Given the description of an element on the screen output the (x, y) to click on. 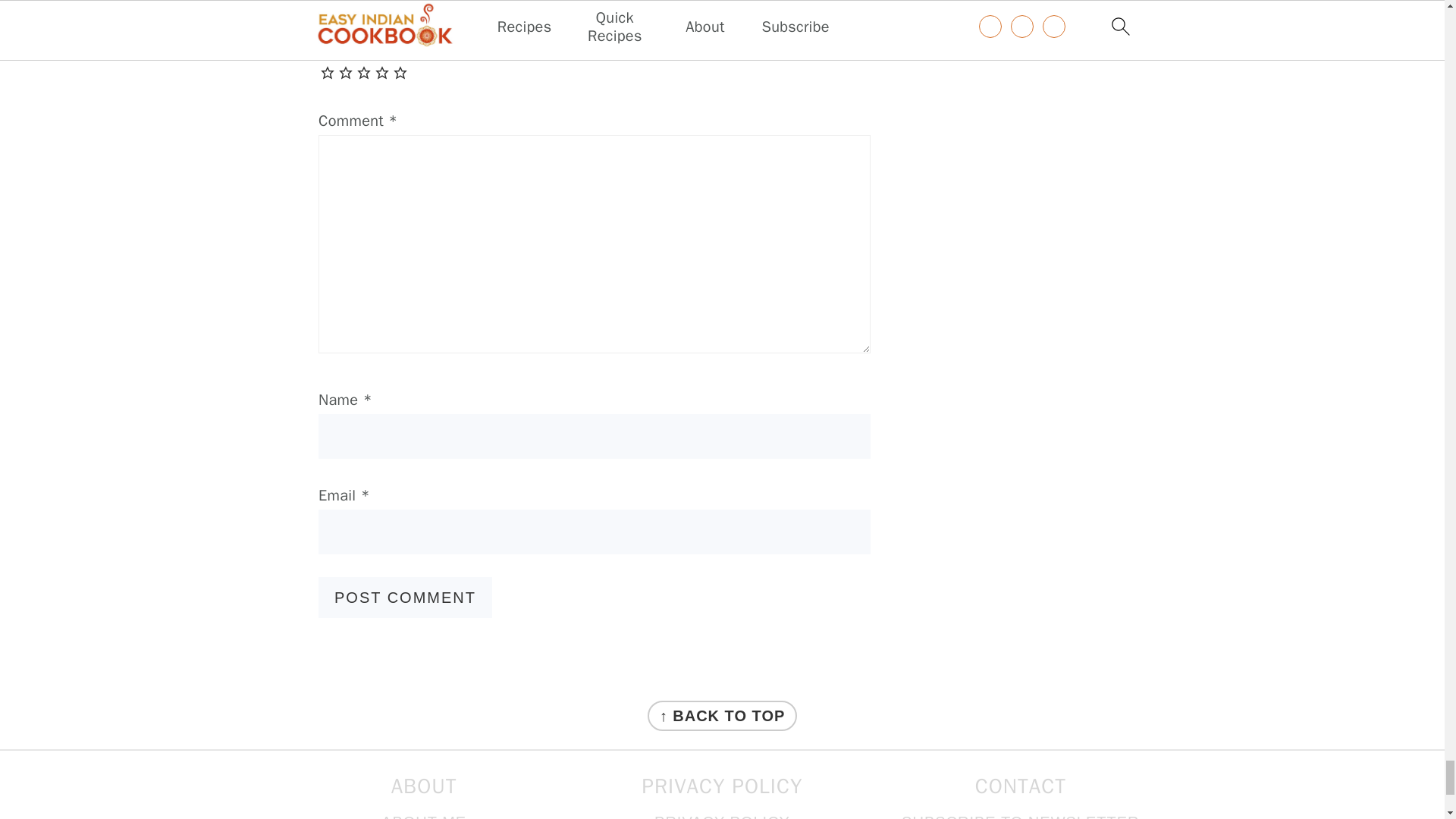
Post Comment (405, 597)
